Given the description of an element on the screen output the (x, y) to click on. 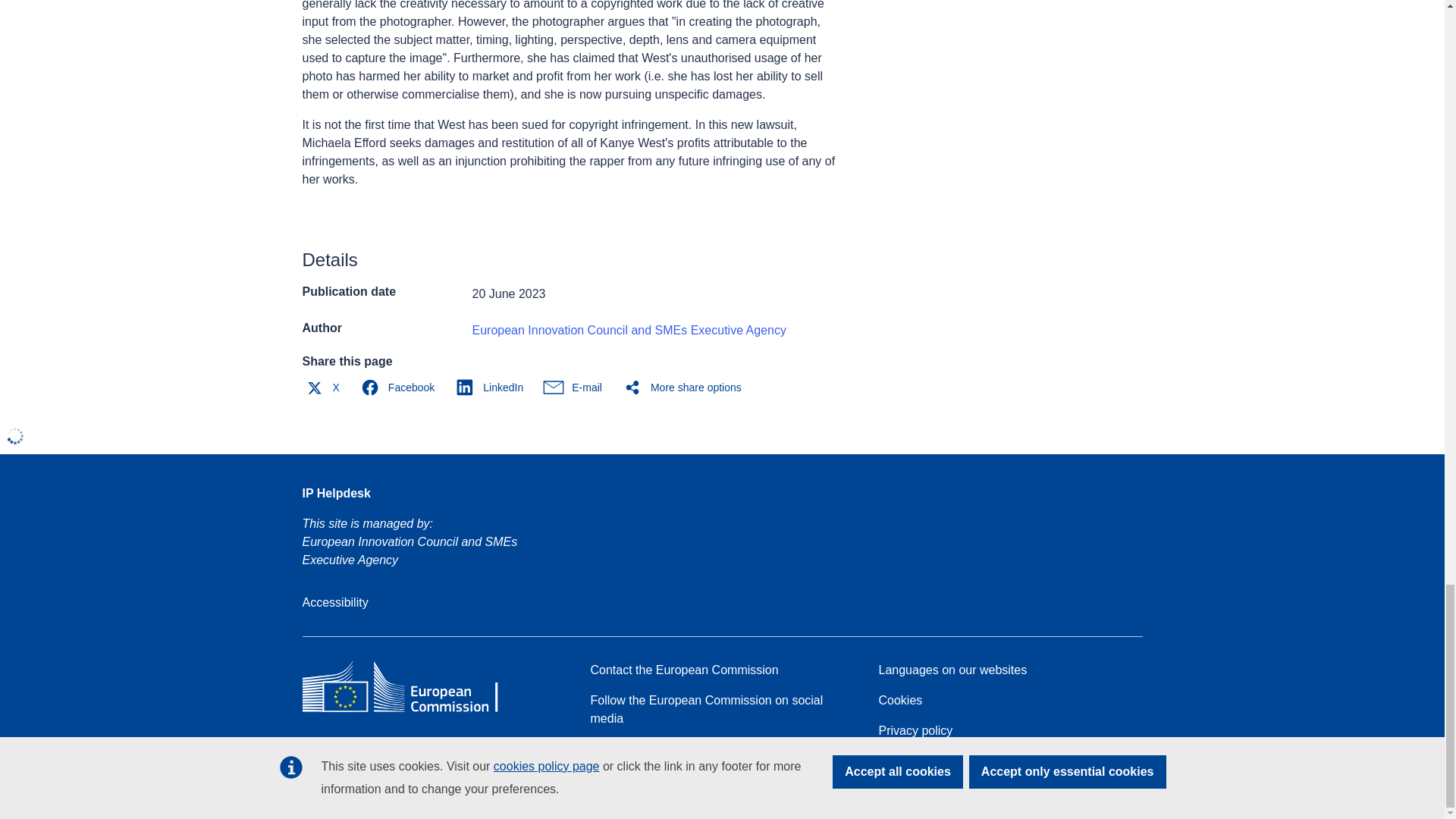
European Commission (411, 711)
